Given the description of an element on the screen output the (x, y) to click on. 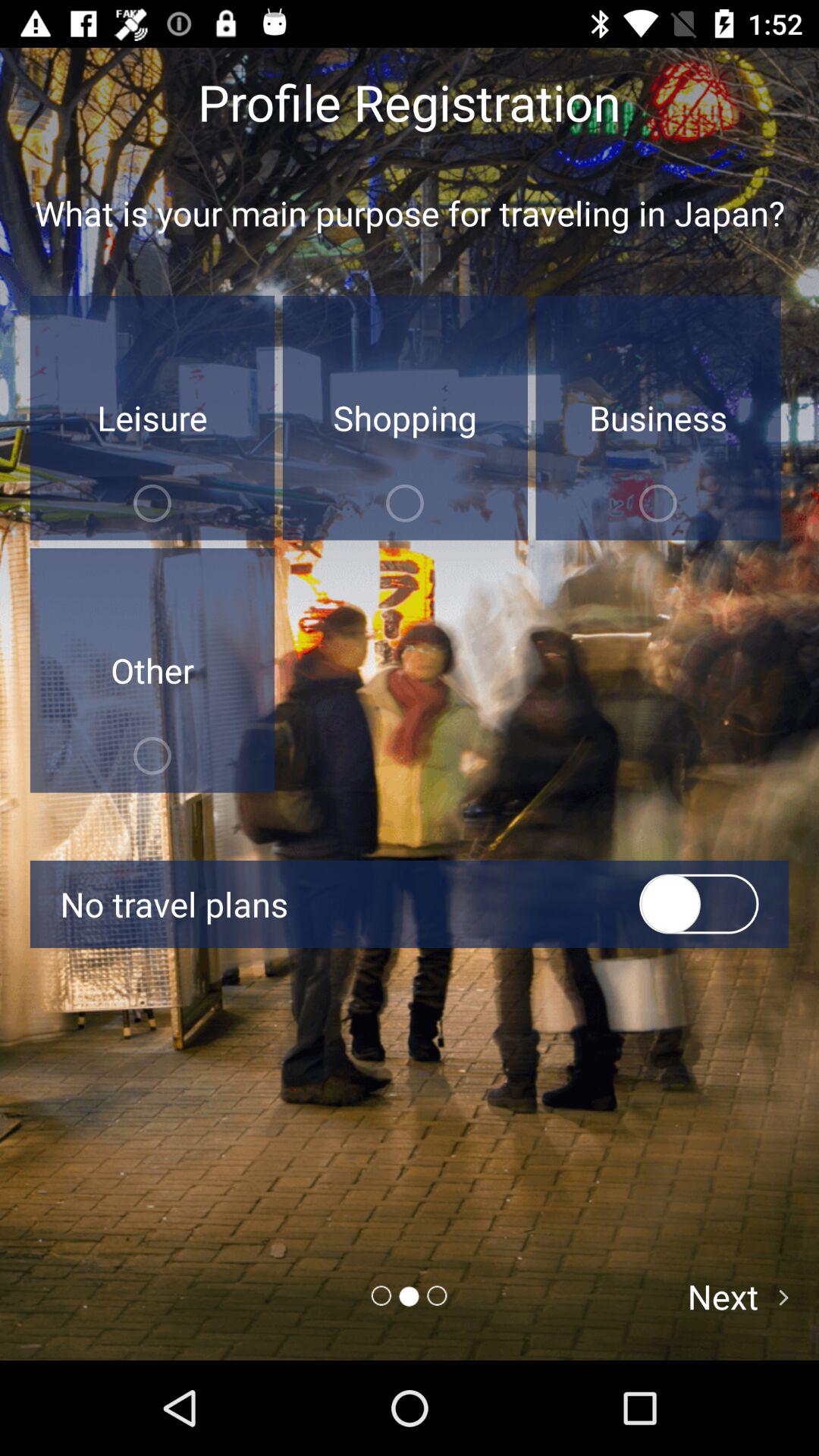
select the toggle switch buttons before no travel plans on the page (699, 904)
select the business option (658, 417)
